Given the description of an element on the screen output the (x, y) to click on. 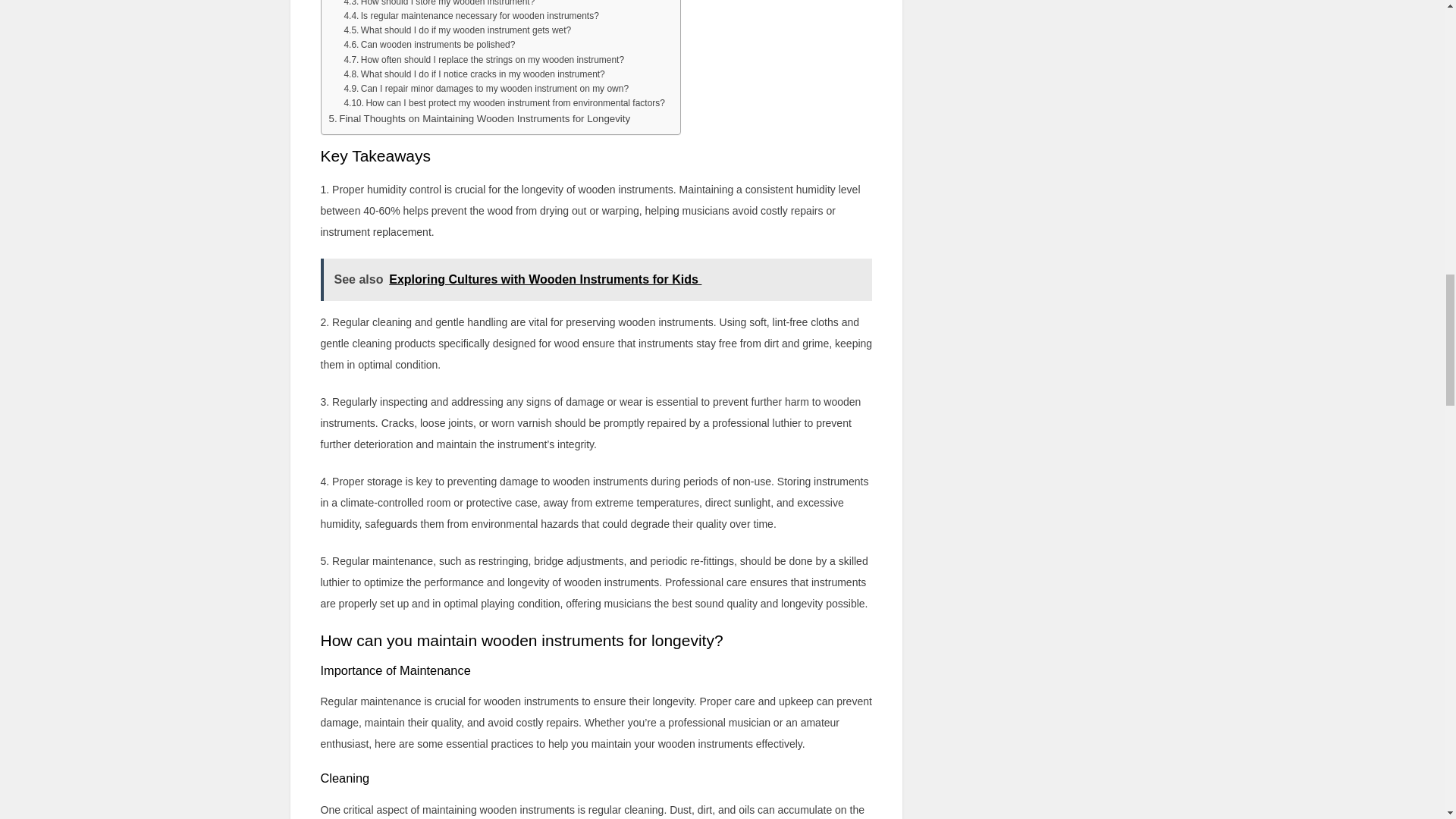
What should I do if I notice cracks in my wooden instrument? (473, 74)
Is regular maintenance necessary for wooden instruments? (470, 16)
How should I store my wooden instrument? (438, 4)
Can wooden instruments be polished? (429, 44)
What should I do if my wooden instrument gets wet? (456, 30)
